Given the description of an element on the screen output the (x, y) to click on. 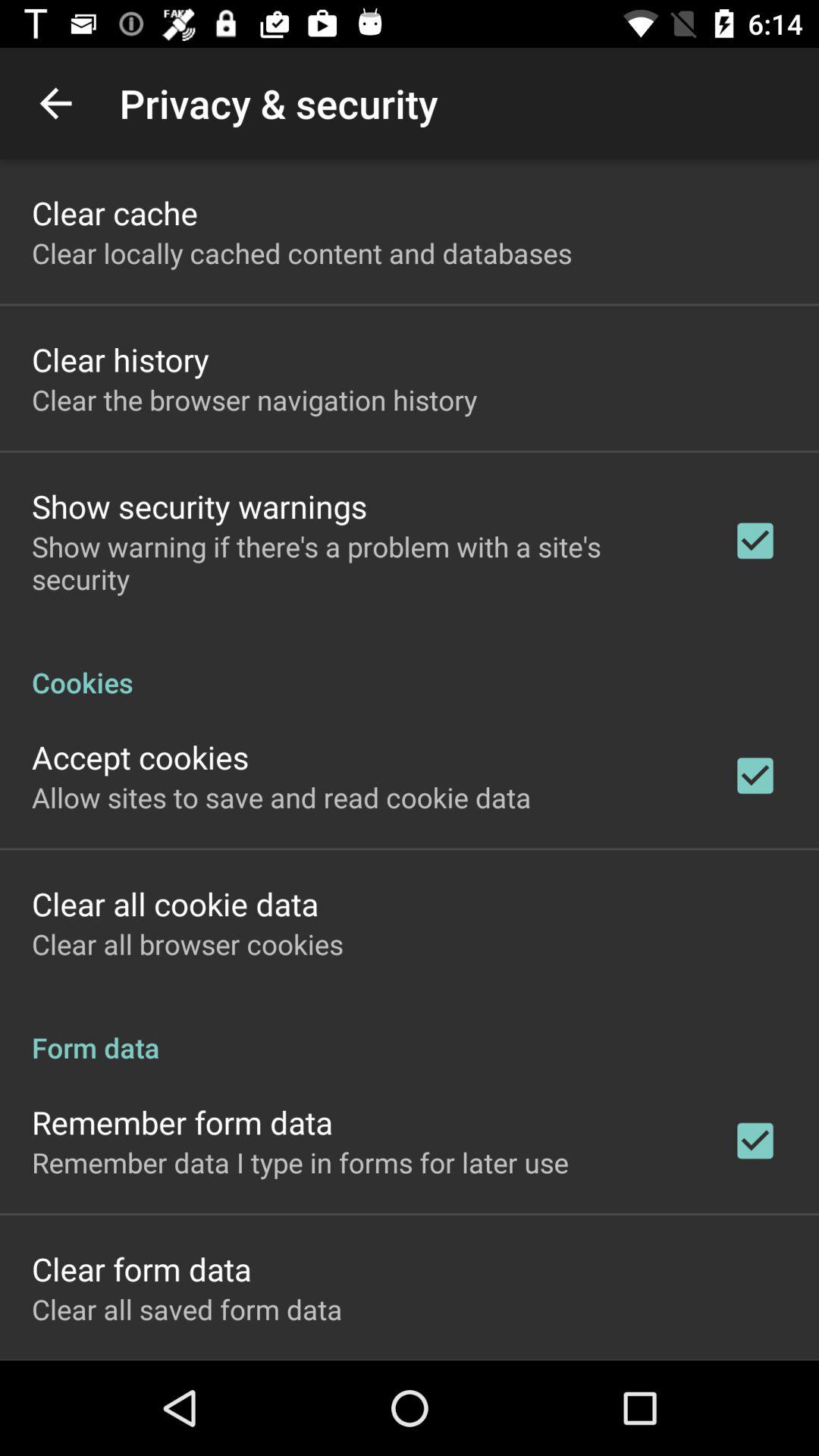
jump to the allow sites to icon (281, 797)
